Given the description of an element on the screen output the (x, y) to click on. 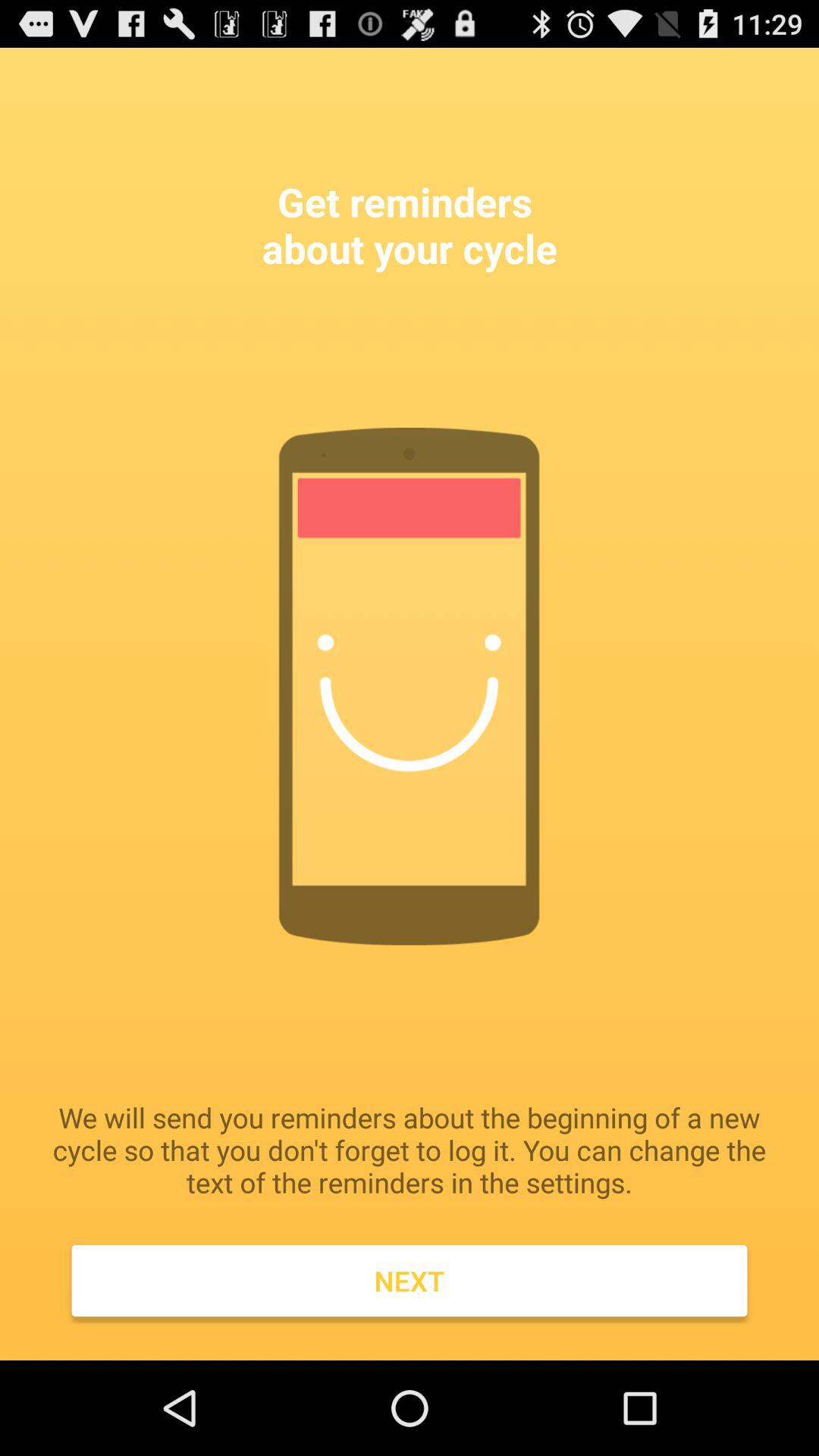
turn on item below the we will send item (409, 1280)
